Given the description of an element on the screen output the (x, y) to click on. 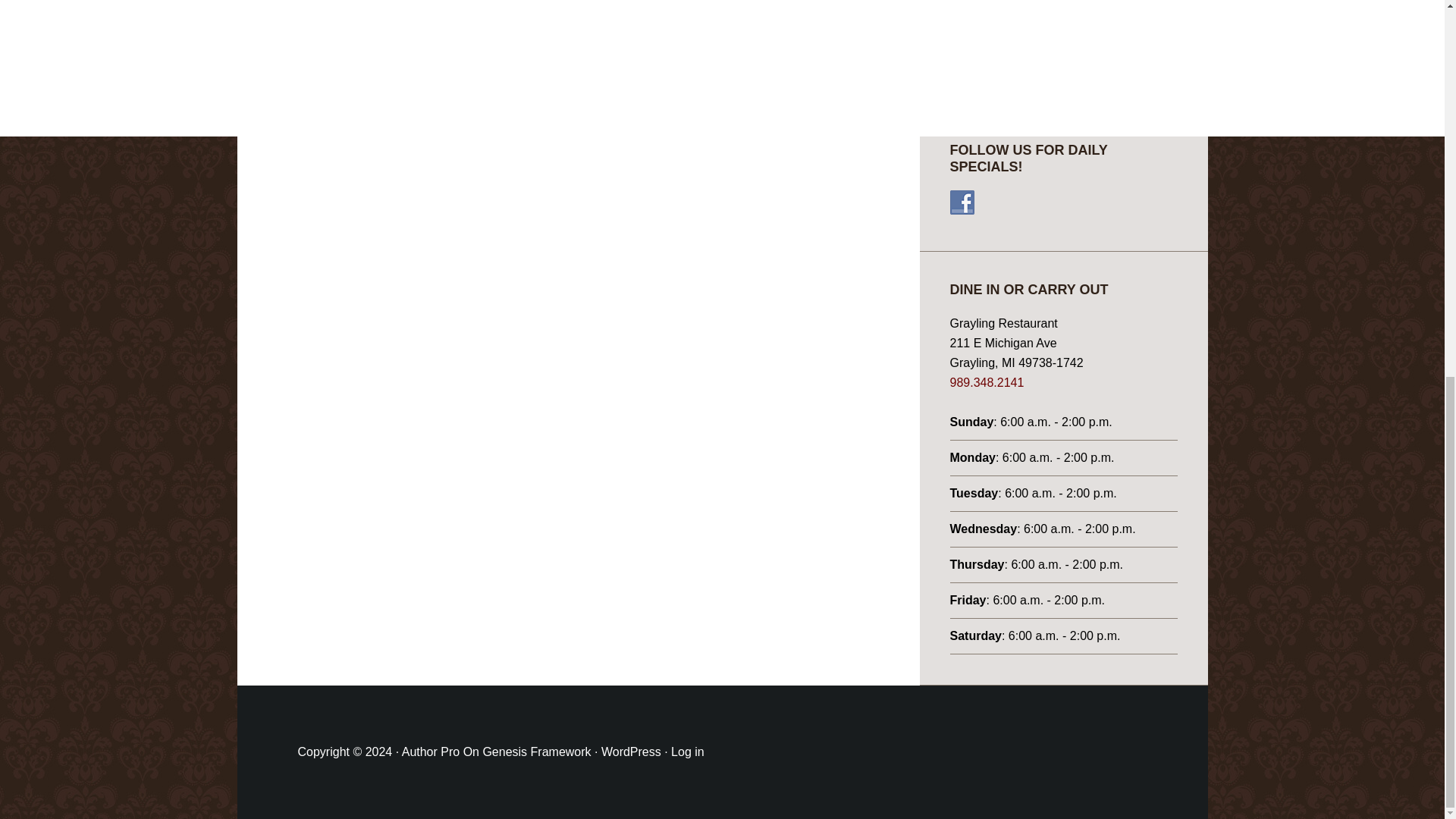
Genesis Framework (536, 751)
Log in (687, 751)
989.348.2141 (986, 382)
Likebox Iframe (1062, 37)
Author Pro (430, 751)
Follow Us on Facebook (961, 202)
WordPress (631, 751)
